Given the description of an element on the screen output the (x, y) to click on. 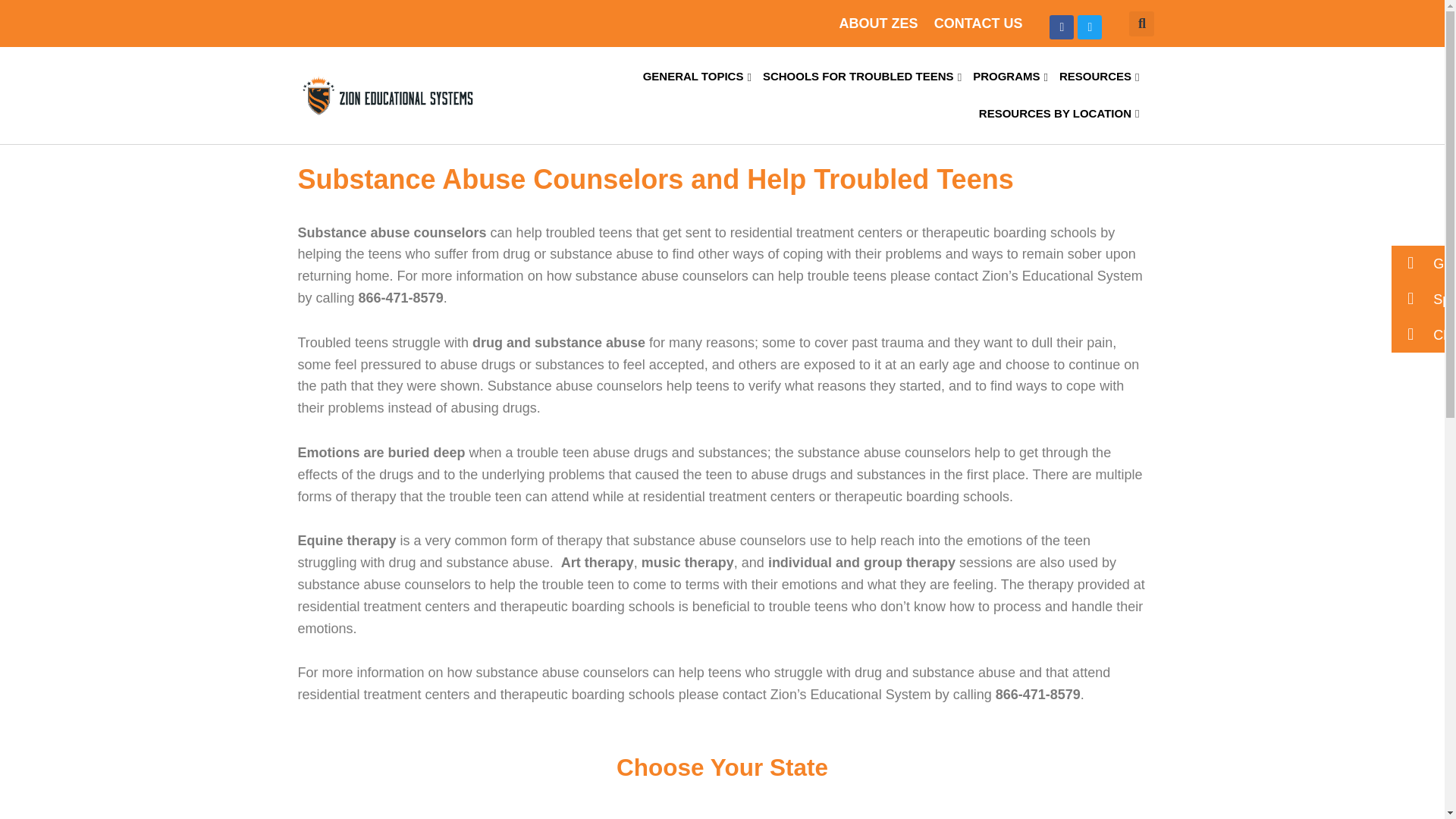
ABOUT ZES (877, 23)
CONTACT US (978, 23)
GENERAL TOPICS (697, 76)
Skip to content (11, 31)
